Given the description of an element on the screen output the (x, y) to click on. 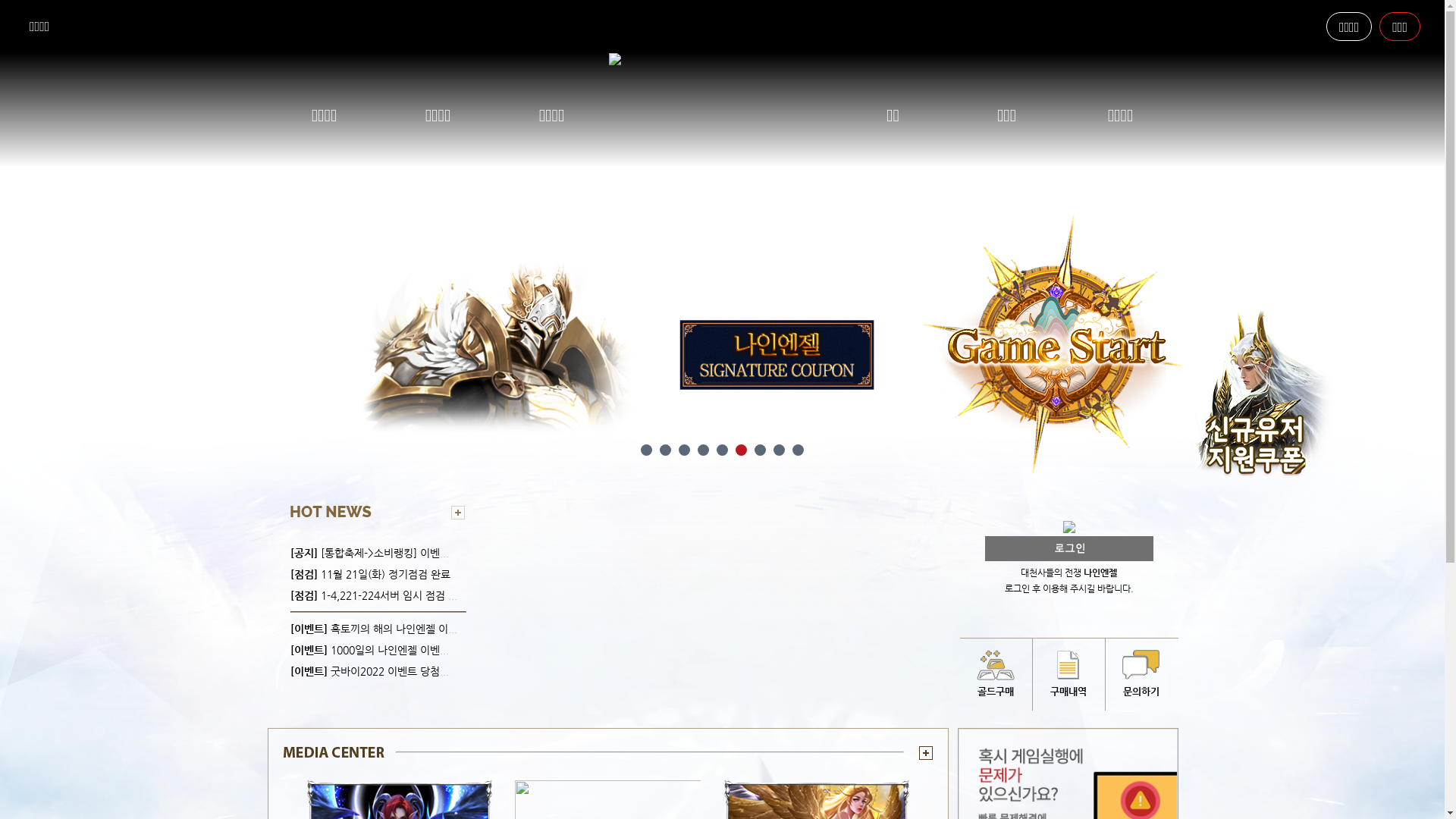
8 Element type: text (778, 449)
5 Element type: text (722, 449)
9 Element type: text (797, 449)
4 Element type: text (703, 449)
7 Element type: text (759, 449)
3 Element type: text (684, 449)
6 Element type: text (740, 449)
2 Element type: text (665, 449)
1 Element type: text (646, 449)
